Given the description of an element on the screen output the (x, y) to click on. 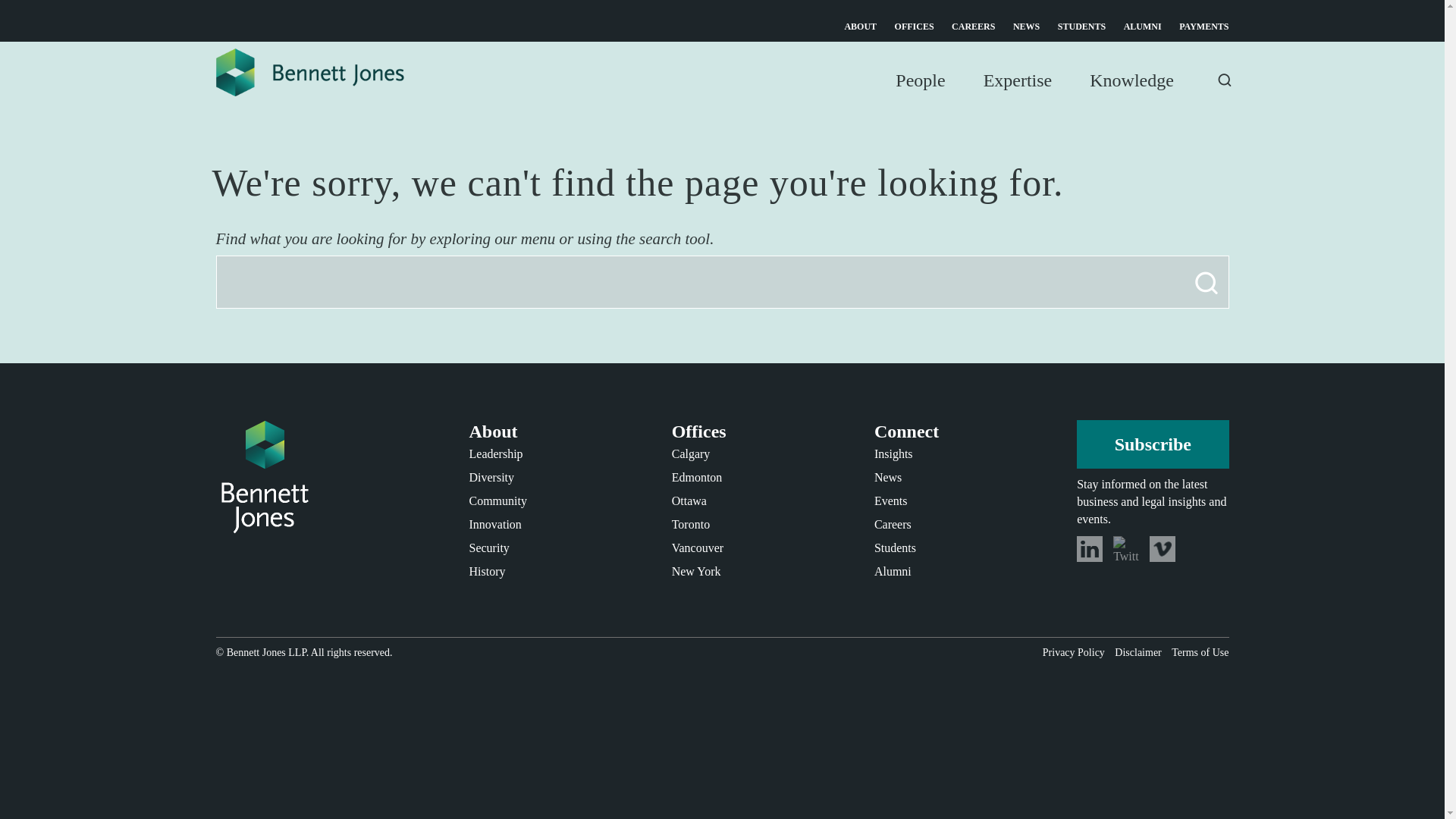
Disclaimer (1137, 652)
OFFICES (914, 26)
Bennett Jones LLP (266, 652)
Terms of Use (1200, 652)
NEWS (1026, 26)
PAYMENTS (1203, 26)
ABOUT (860, 26)
Vancouver (697, 547)
News (888, 477)
Knowledge (1131, 97)
Innovation (494, 523)
Ottawa (688, 500)
ALUMNI (1142, 26)
Events (891, 500)
Toronto (690, 523)
